Given the description of an element on the screen output the (x, y) to click on. 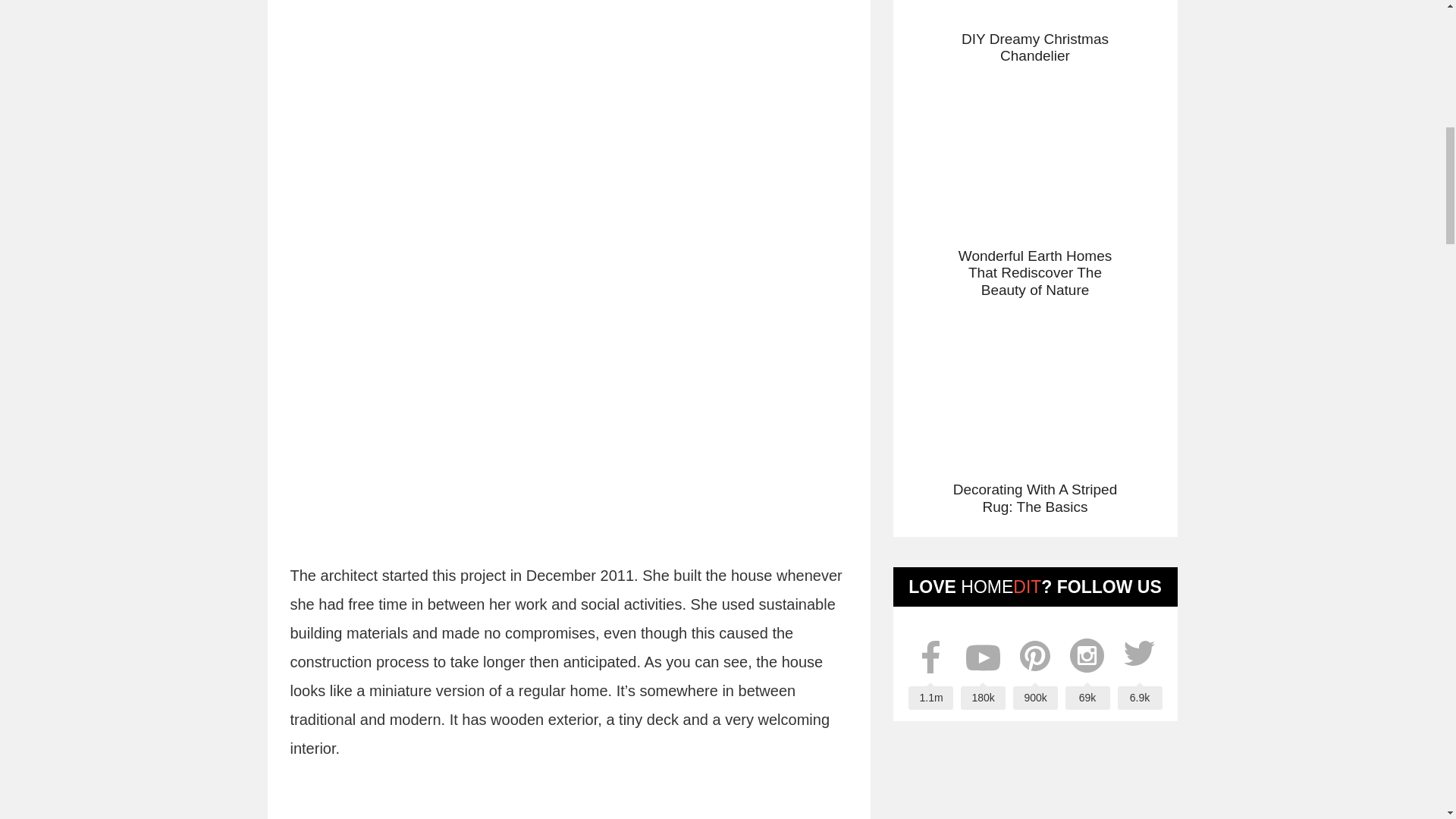
Decorating With A Striped Rug: The Basics (1035, 409)
Decorating With A Striped Rug: The Basics (1035, 409)
DIY Dreamy Christmas Chandelier (1035, 32)
DIY Dreamy Christmas Chandelier (1035, 32)
